Given the description of an element on the screen output the (x, y) to click on. 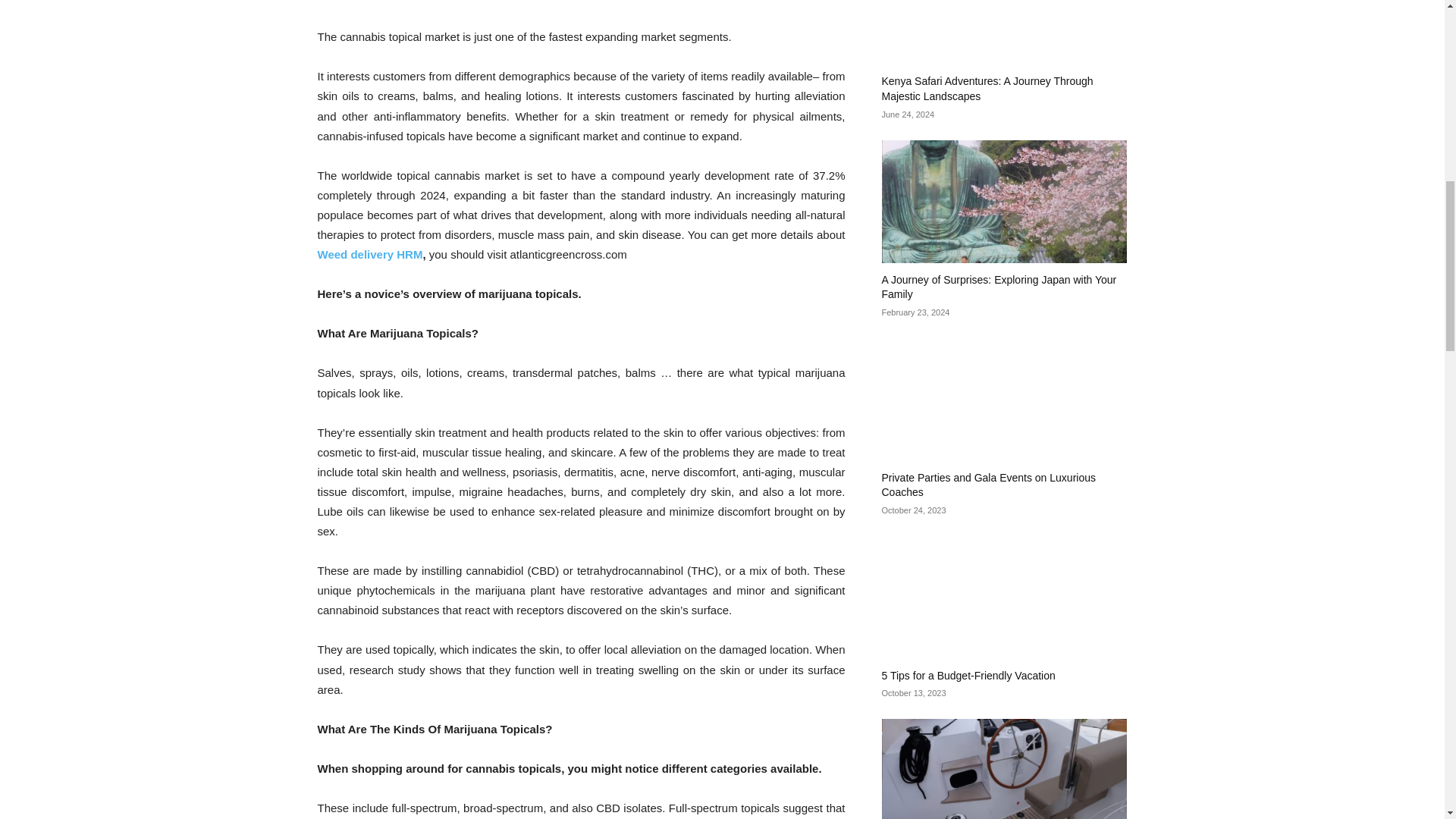
Weed delivery HRM (369, 254)
